Given the description of an element on the screen output the (x, y) to click on. 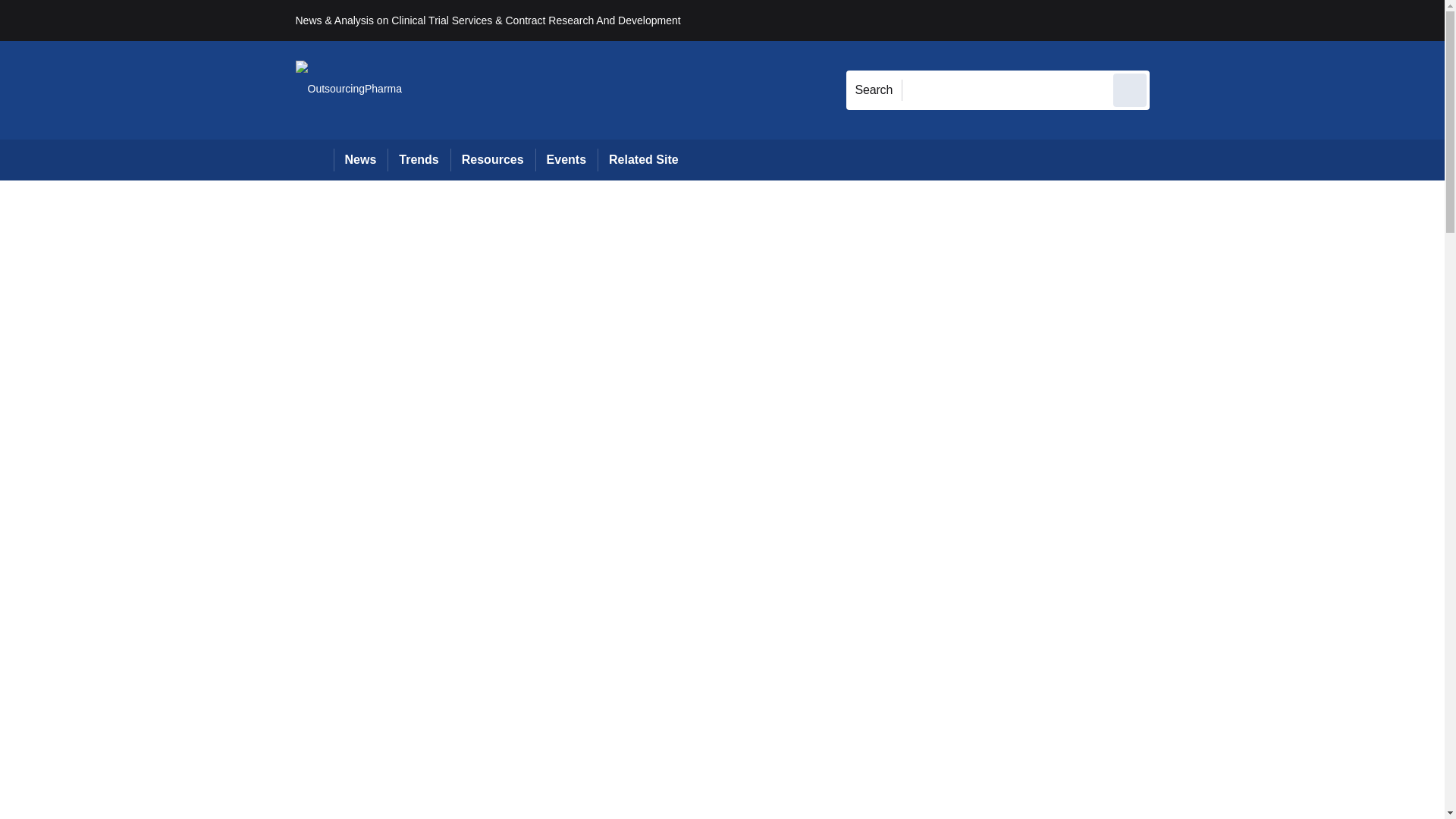
News (360, 159)
Sign out (1174, 20)
REGISTER (1250, 20)
Send (1129, 89)
My account (1256, 20)
Send (1129, 90)
Sign in (1171, 20)
Home (314, 159)
Resources (492, 159)
OutsourcingPharma (349, 89)
